Given the description of an element on the screen output the (x, y) to click on. 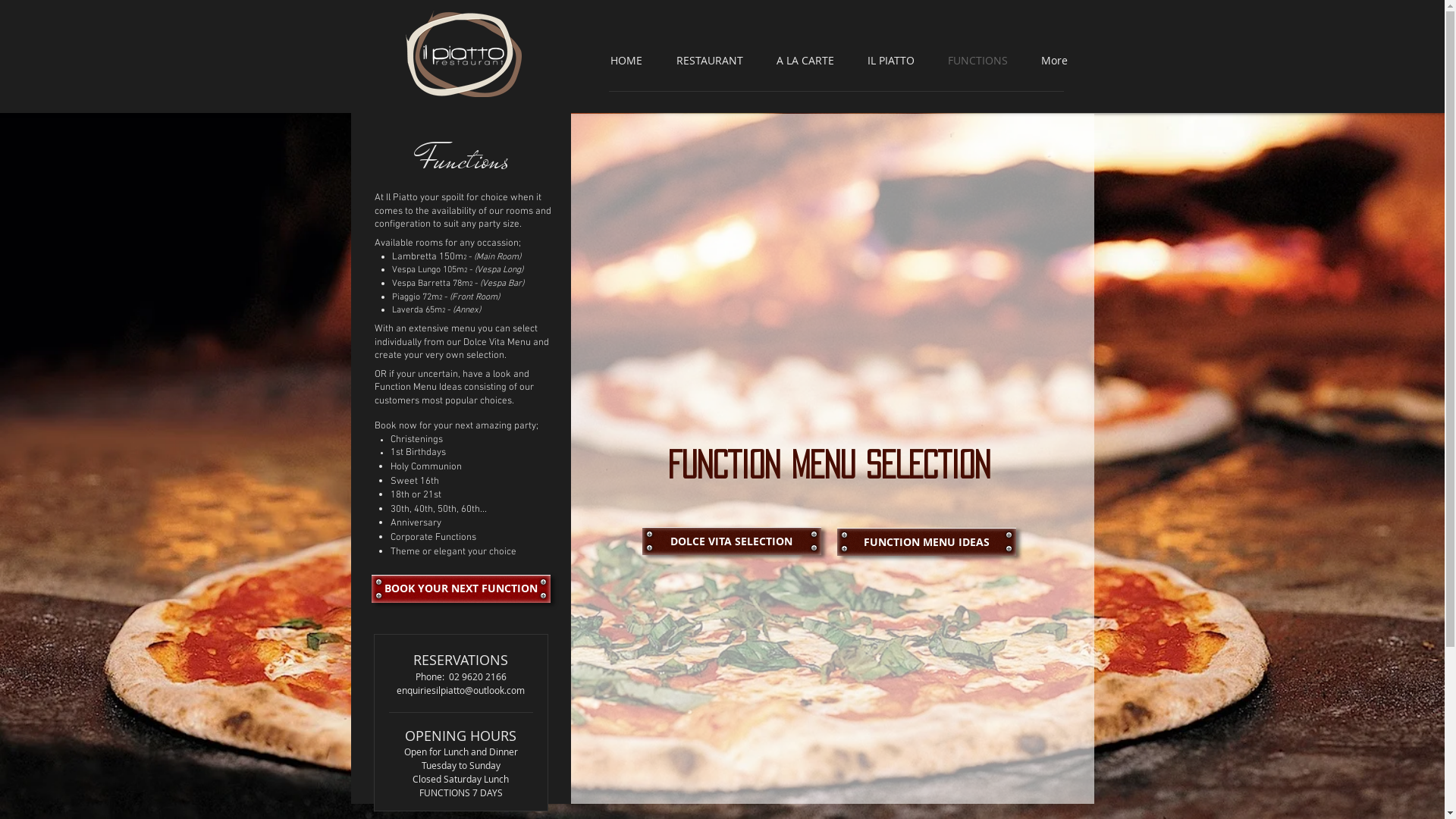
BOOK YOUR NEXT FUNCTION Element type: text (460, 588)
DOLCE VITA SELECTION Element type: text (730, 541)
FUNCTION MENU IDEAS Element type: text (926, 541)
A LA CARTE Element type: text (806, 60)
FUNCTIONS Element type: text (979, 60)
IL PIATTO Element type: text (892, 60)
HOME Element type: text (627, 60)
RESTAURANT Element type: text (711, 60)
